Given the description of an element on the screen output the (x, y) to click on. 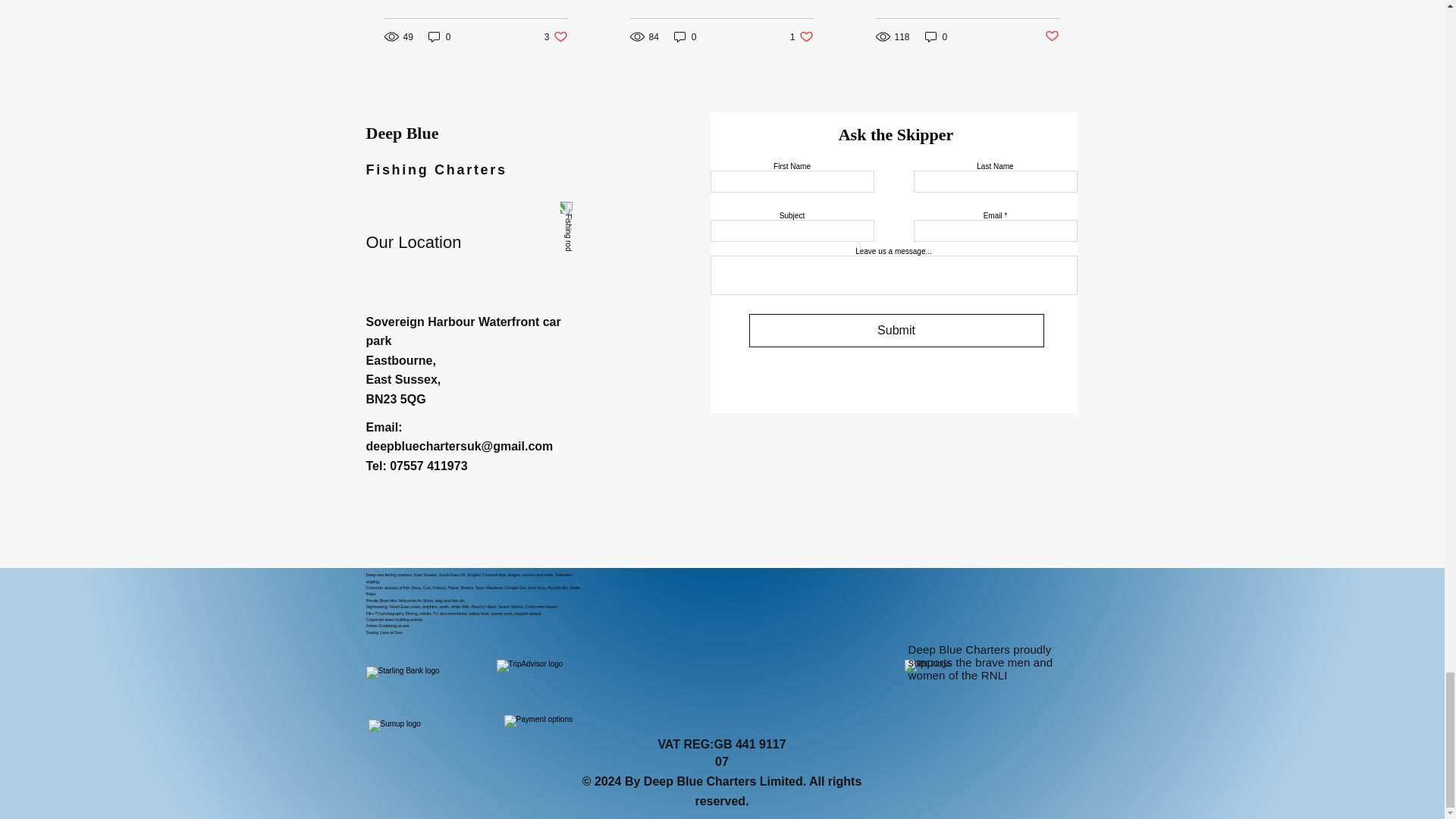
0 (439, 36)
Post not marked as liked (1052, 36)
0 (936, 36)
Deep Blue (401, 132)
Submit (896, 330)
Fishing Charters (435, 169)
0 (685, 36)
